Given the description of an element on the screen output the (x, y) to click on. 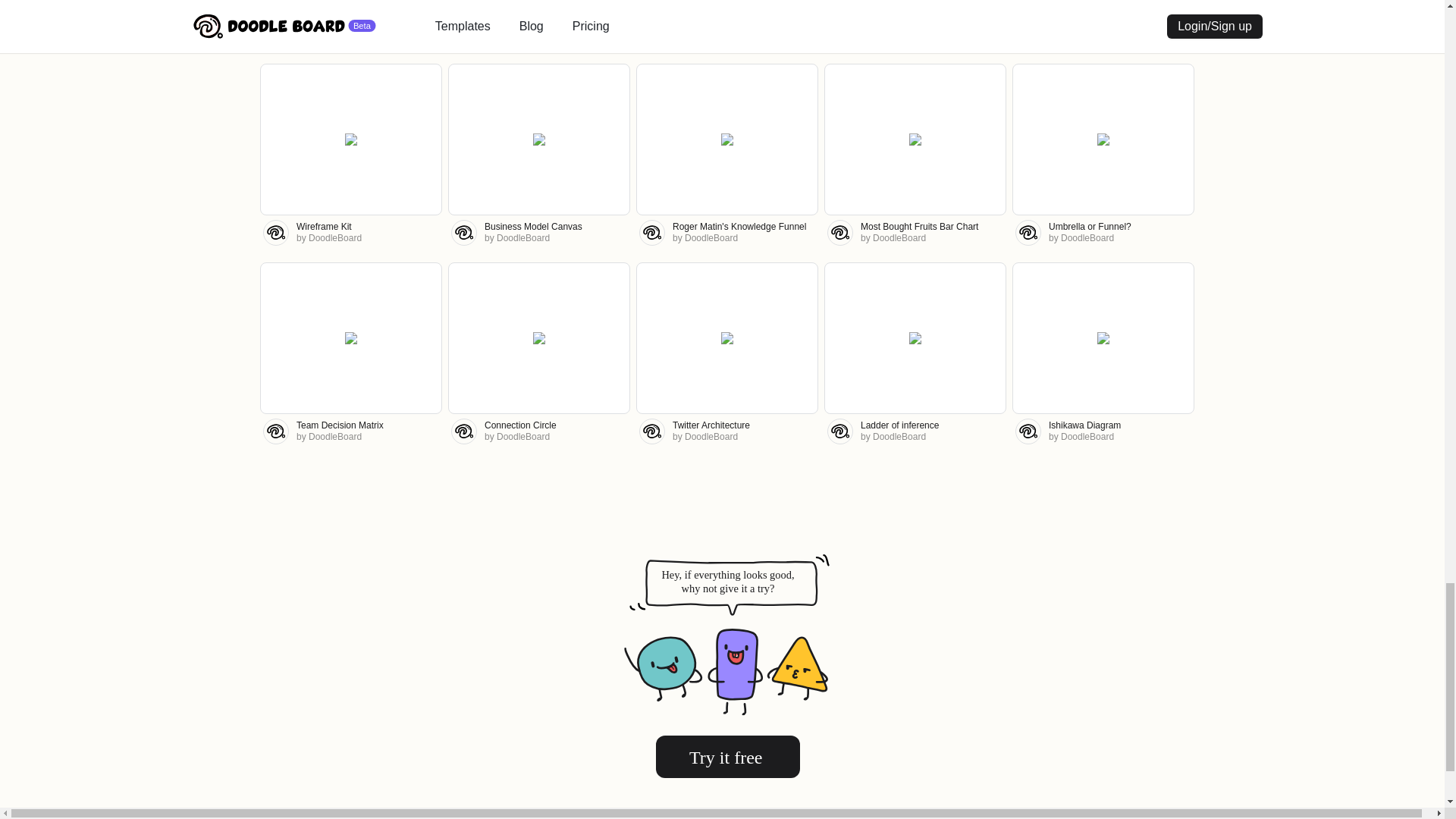
Roger Matin's Knowledge Funnel (739, 226)
Connection Circle (520, 425)
Ladder of inference (899, 425)
Business Model Canvas (533, 226)
Most Bought Fruits Bar Chart (919, 226)
Umbrella or Funnel? (1089, 226)
Wireframe Kit (324, 226)
Ishikawa Diagram (1084, 425)
Twitter Architecture (710, 425)
Team Decision Matrix (340, 425)
